Given the description of an element on the screen output the (x, y) to click on. 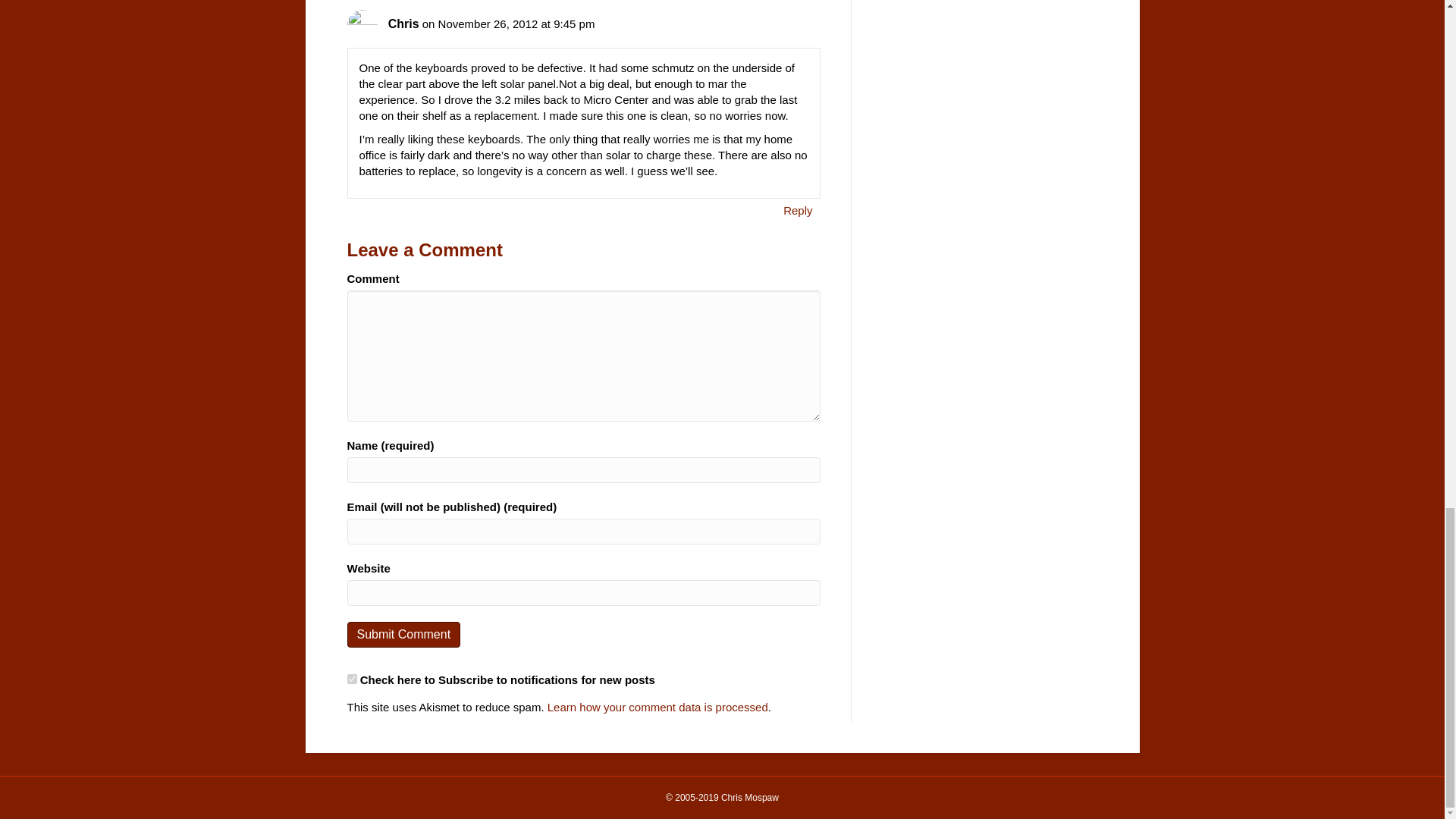
1 (351, 678)
Learn how your comment data is processed (657, 707)
Reply (796, 209)
Submit Comment (404, 634)
Submit Comment (404, 634)
